Given the description of an element on the screen output the (x, y) to click on. 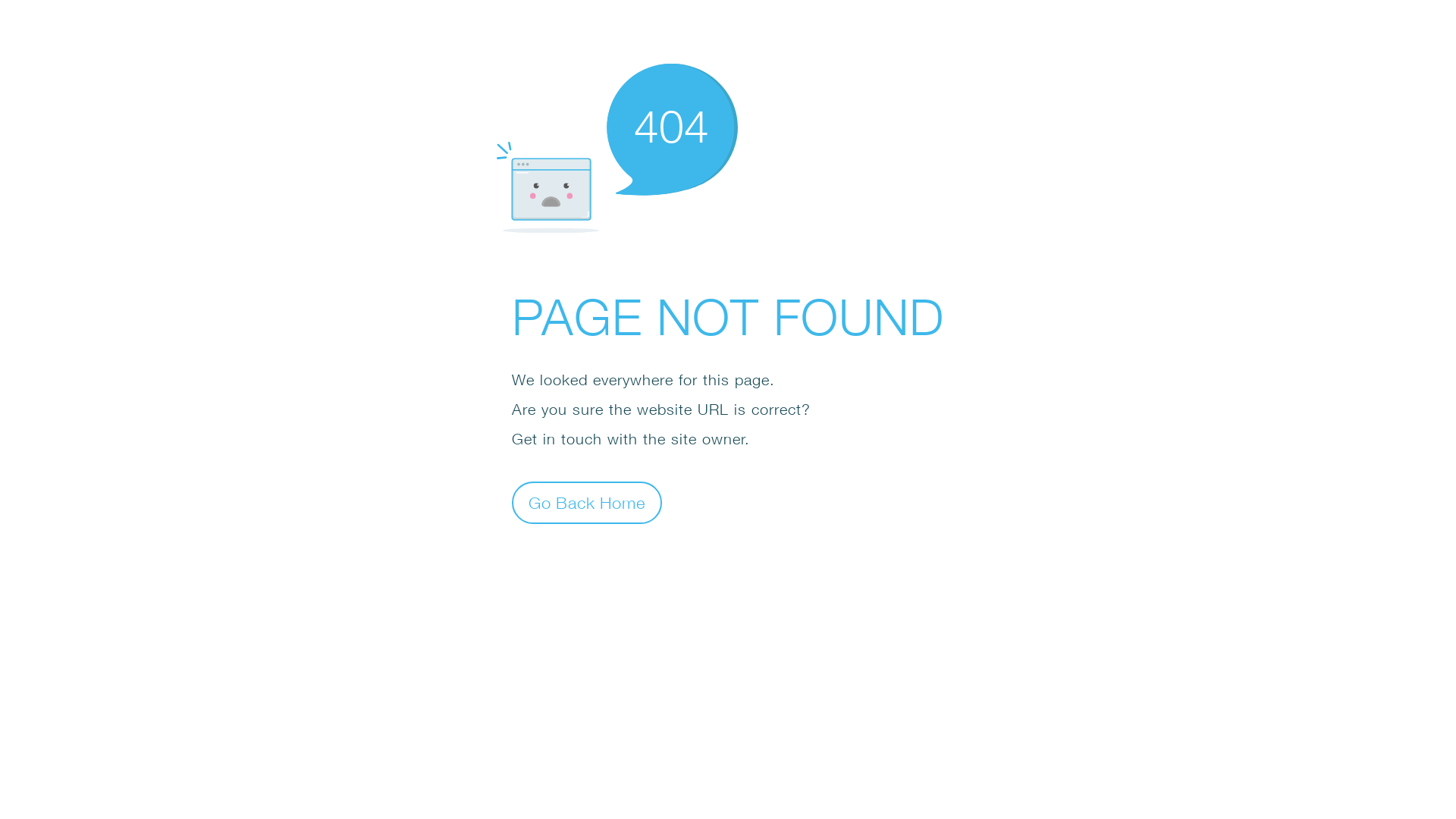
Go Back Home Element type: text (586, 502)
